Given the description of an element on the screen output the (x, y) to click on. 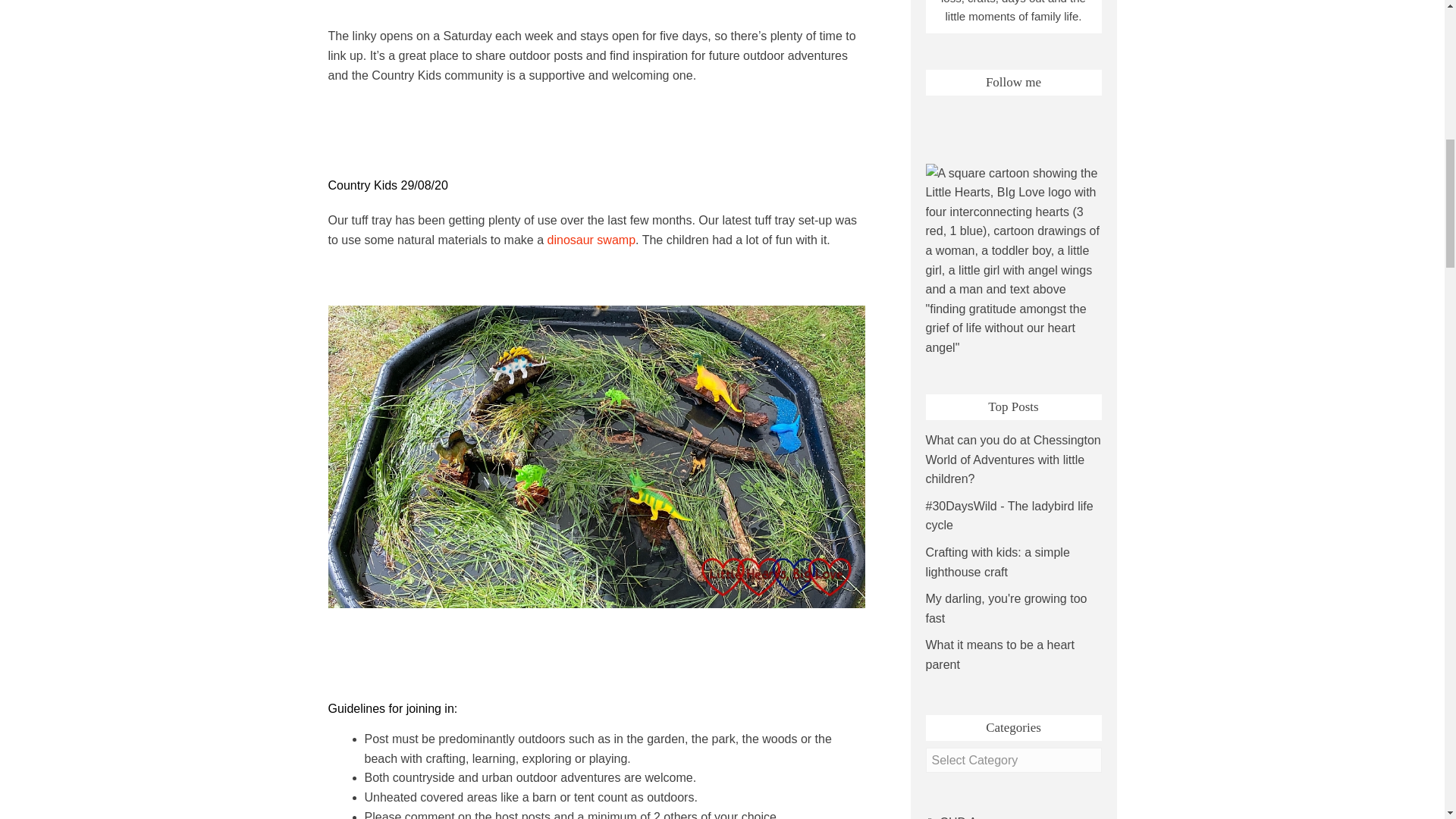
dinosaur swamp (591, 239)
